Given the description of an element on the screen output the (x, y) to click on. 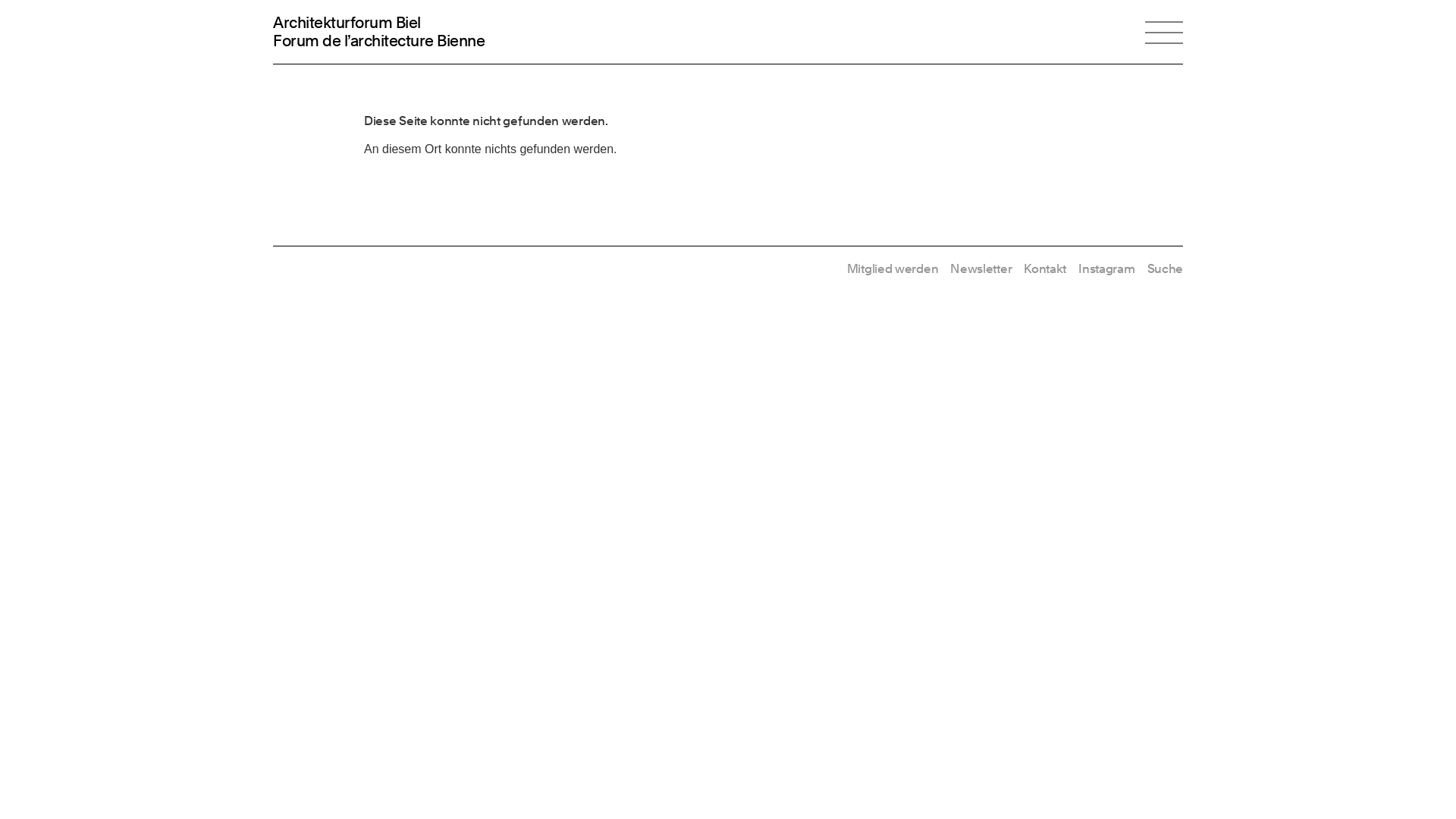
Mitglied werden Element type: text (892, 268)
Newsletter Element type: text (980, 268)
Instagram Element type: text (1106, 268)
Suche Element type: text (1164, 268)
Kontakt Element type: text (1044, 268)
